Given the description of an element on the screen output the (x, y) to click on. 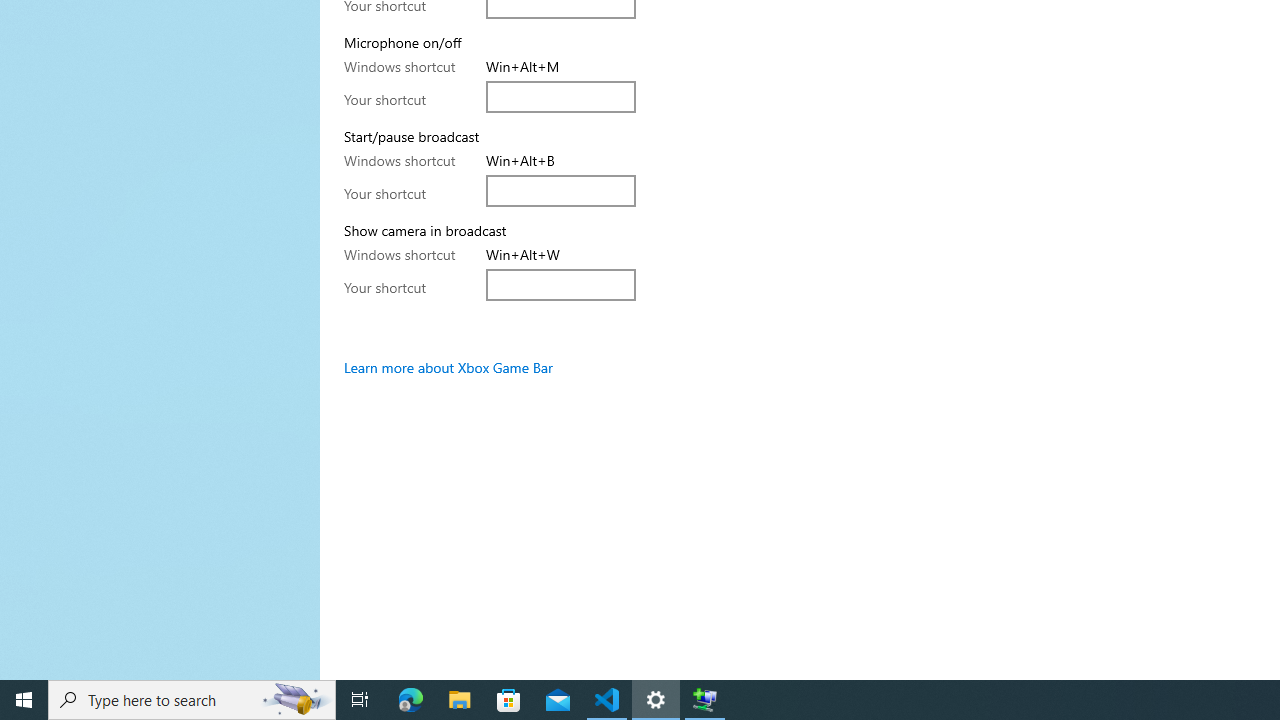
AutomationID: ShortcutTextBox (561, 284)
Learn more about Xbox Game Bar (448, 367)
Extensible Wizards Host Process - 1 running window (704, 699)
